Given the description of an element on the screen output the (x, y) to click on. 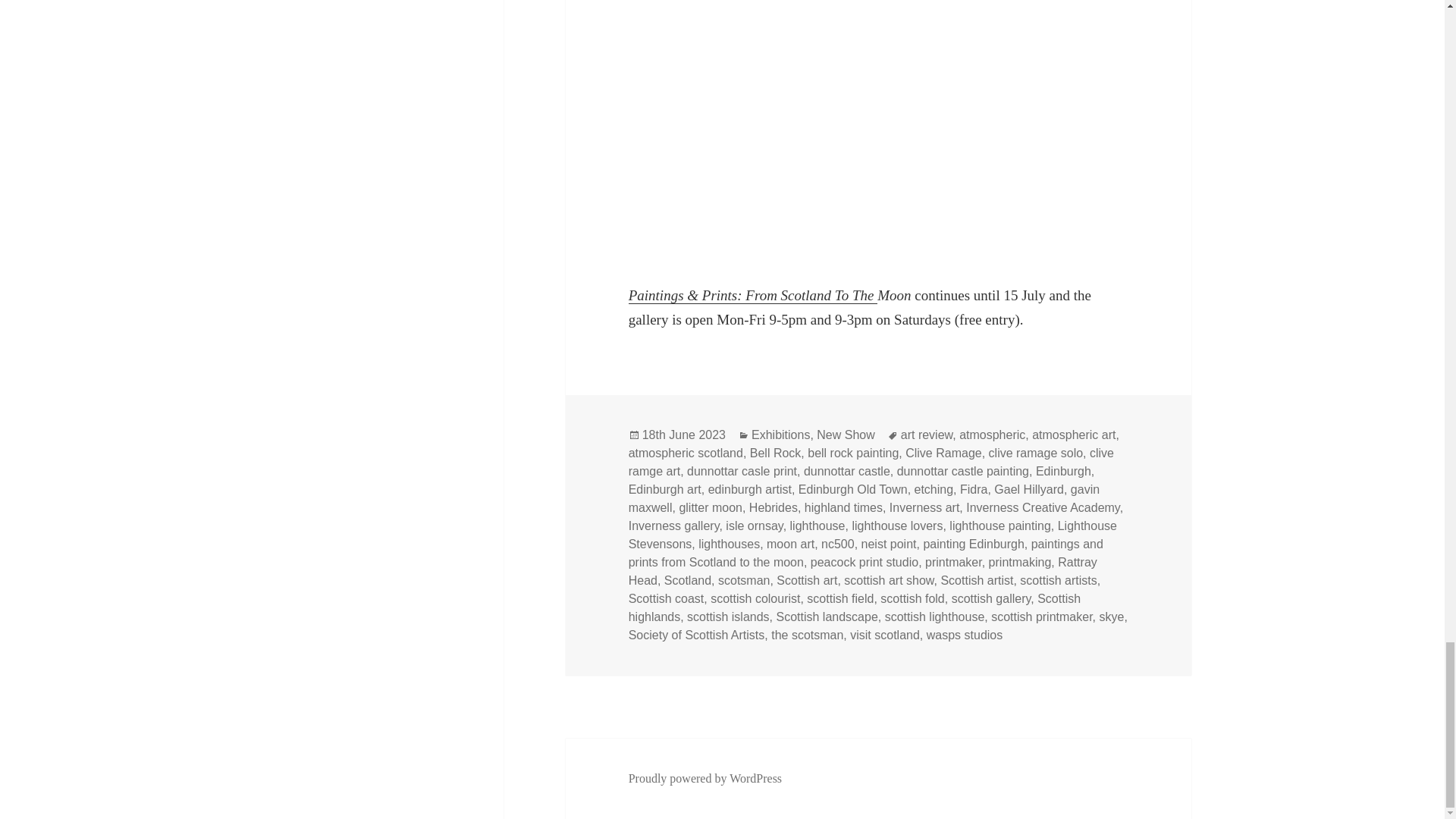
dunnottar castle painting (962, 471)
Exhibitions (780, 435)
atmospheric scotland (685, 453)
Edinburgh art (664, 489)
art review (926, 435)
atmospheric (992, 435)
dunnottar casle print (741, 471)
New Show (845, 435)
Edinburgh Old Town (852, 489)
clive ramage solo (1035, 453)
edinburgh artist (749, 489)
Bell Rock (775, 453)
Clive Ramage (943, 453)
clive ramge art (870, 462)
bell rock painting (853, 453)
